Given the description of an element on the screen output the (x, y) to click on. 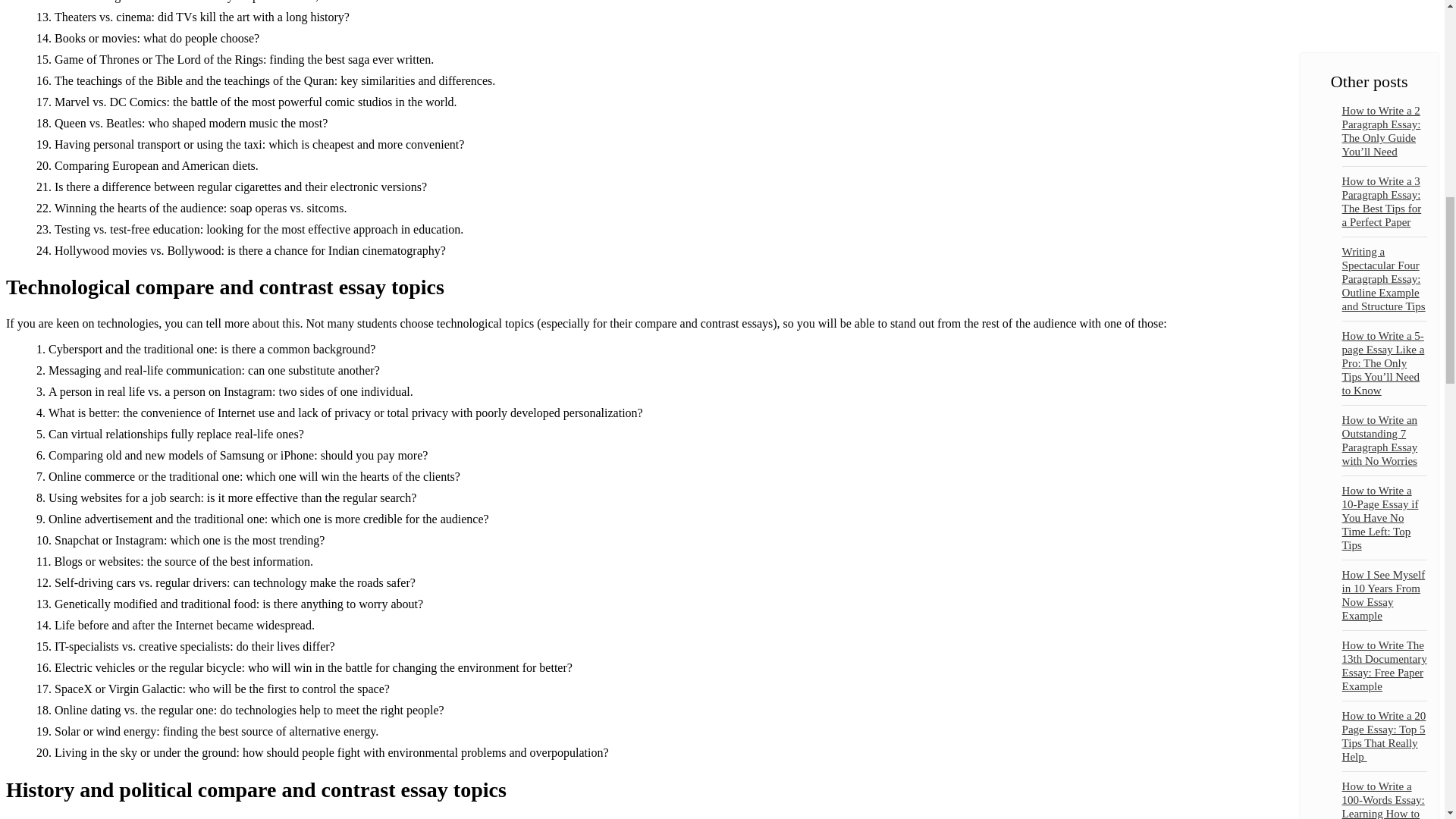
How to Write The 13th Documentary Essay: Free Paper Example (1384, 389)
How I See Myself in 10 Years From Now Essay Example (1383, 319)
How to Write a 20 Page Essay: Top 5 Tips That Really Help  (1384, 460)
